Given the description of an element on the screen output the (x, y) to click on. 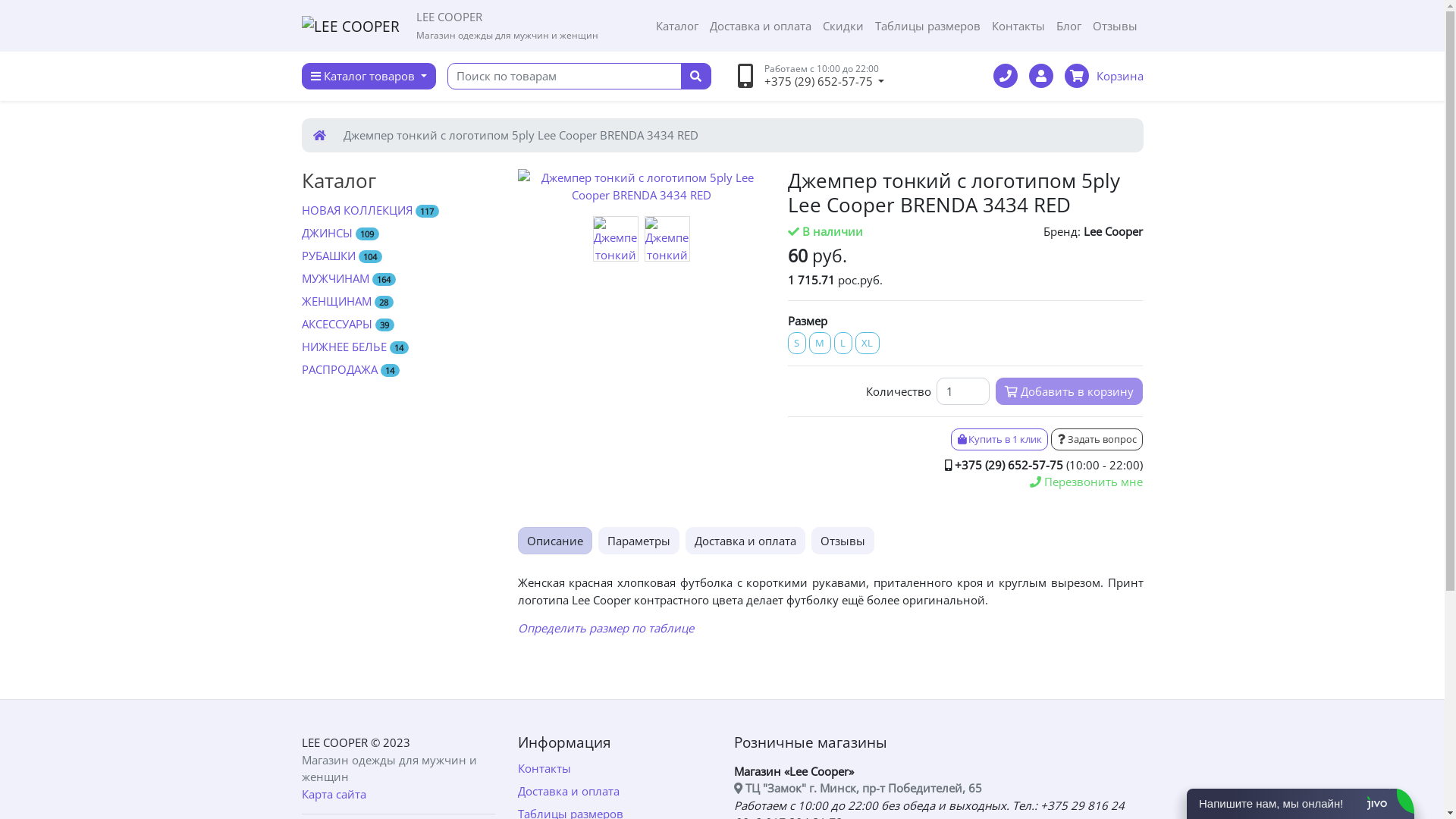
LEE COOPER Element type: text (334, 741)
LEE COOPER Element type: hover (350, 26)
